Given the description of an element on the screen output the (x, y) to click on. 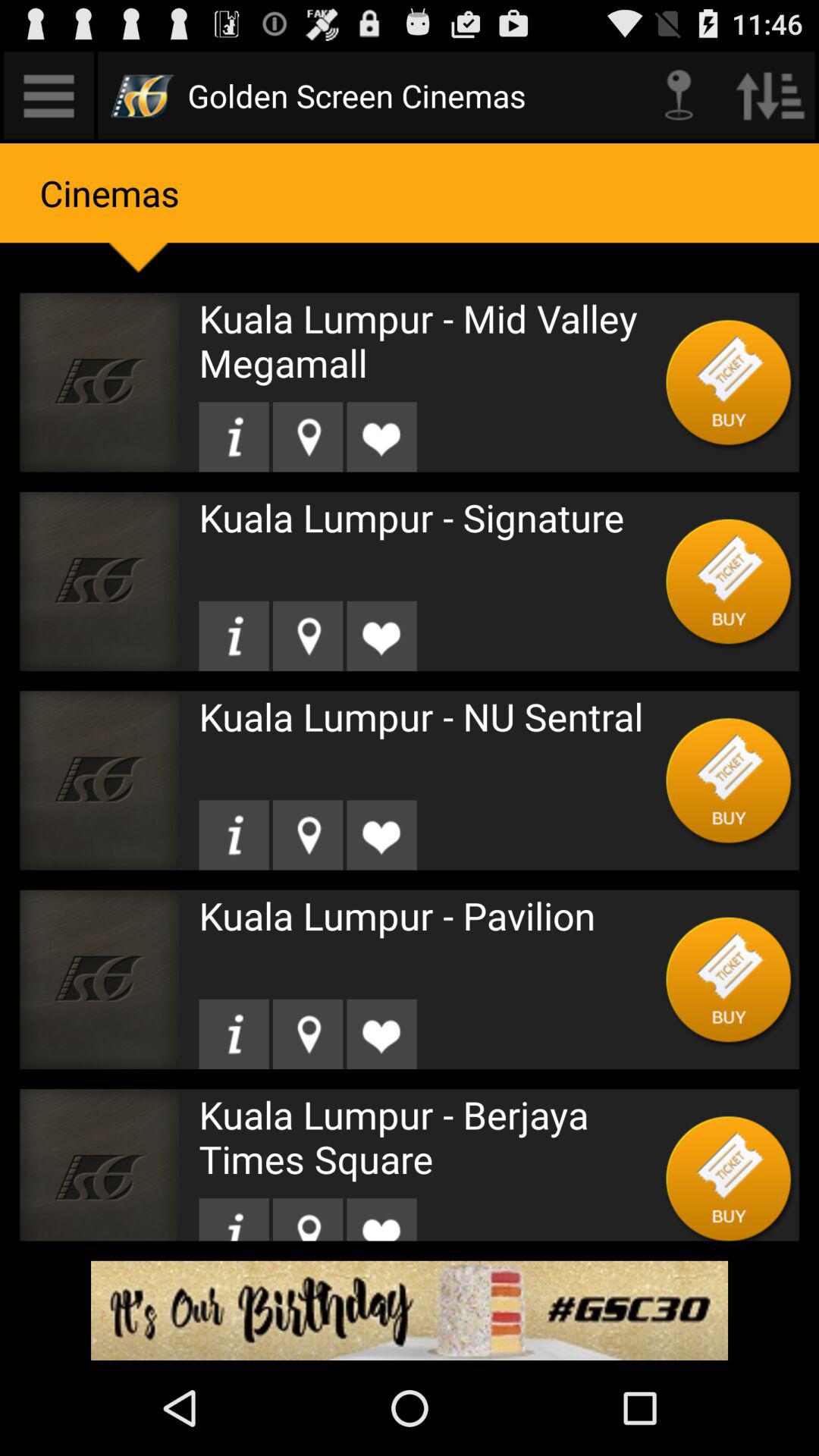
see theater information (234, 636)
